Given the description of an element on the screen output the (x, y) to click on. 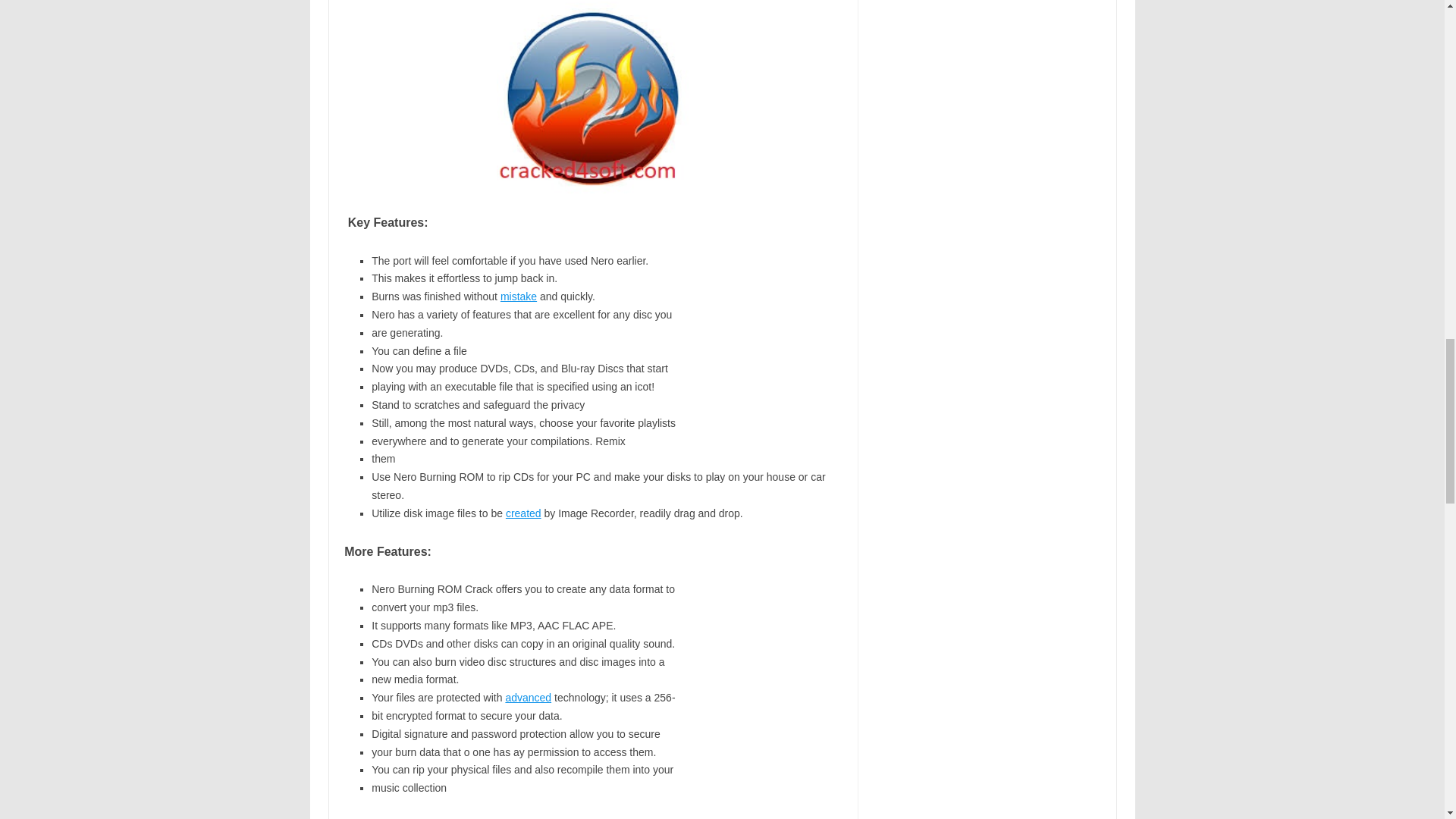
mistake (518, 296)
advanced (528, 697)
created (523, 512)
